Given the description of an element on the screen output the (x, y) to click on. 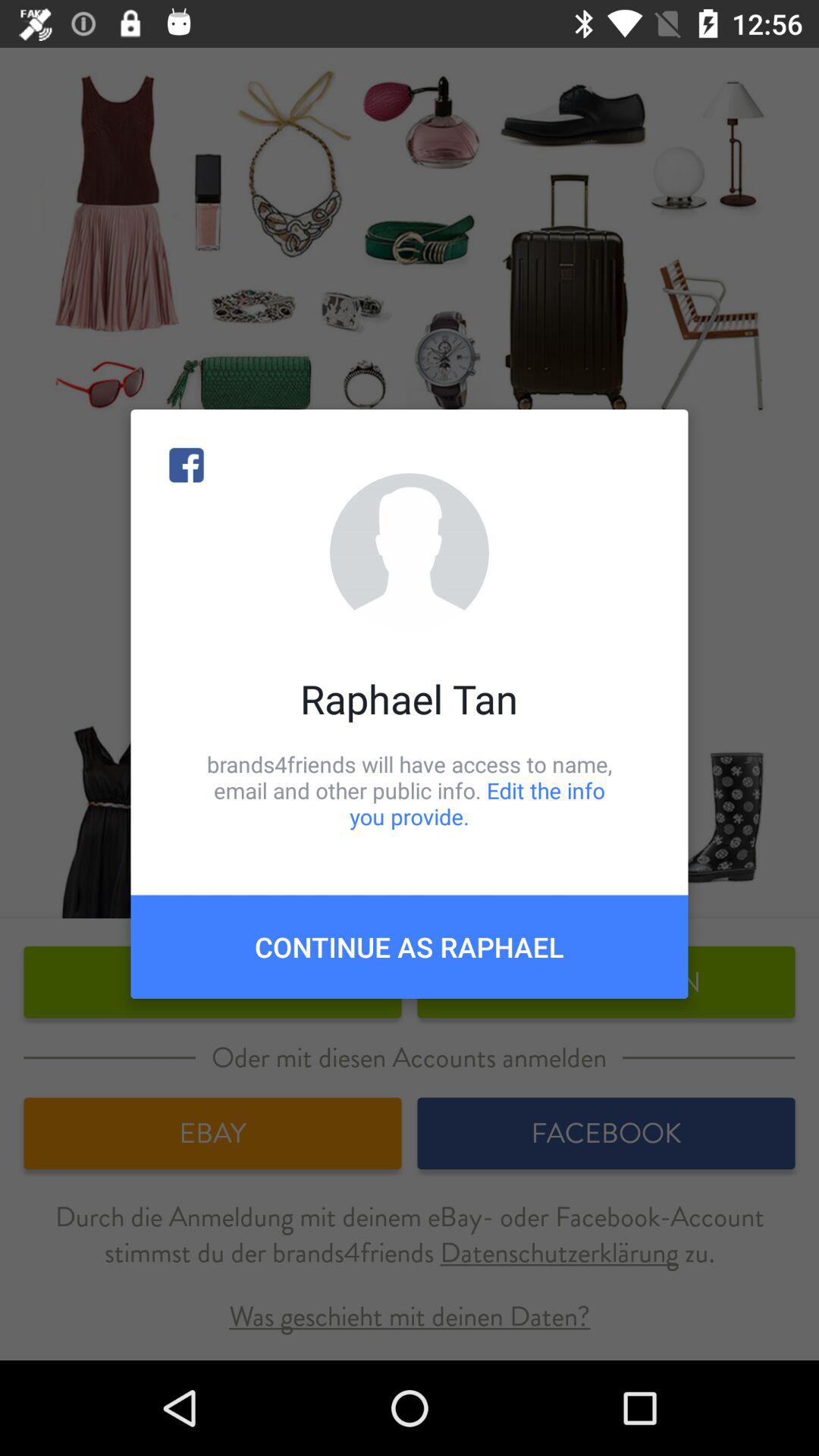
click icon below the raphael tan (409, 790)
